Given the description of an element on the screen output the (x, y) to click on. 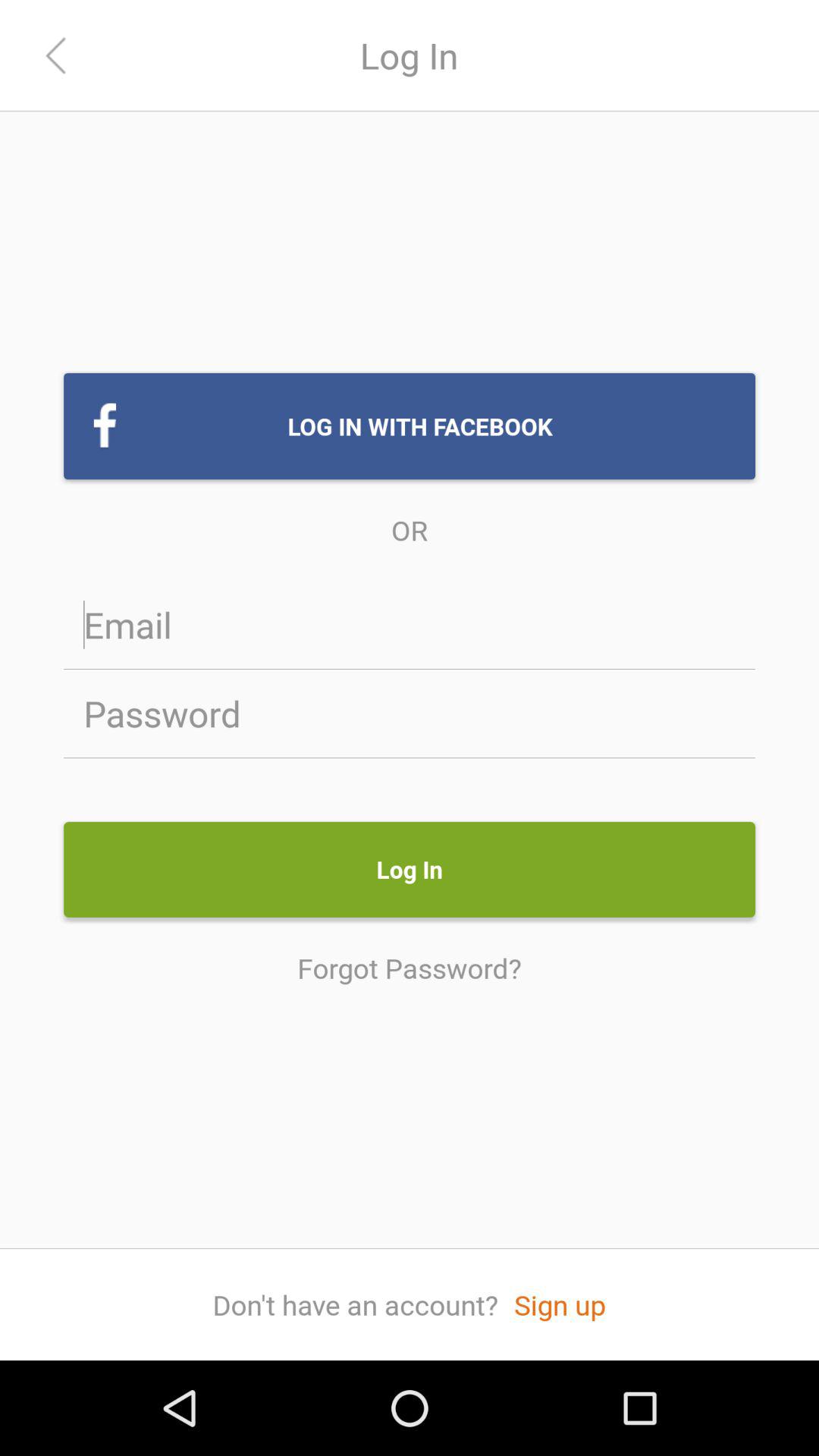
login password (409, 713)
